Given the description of an element on the screen output the (x, y) to click on. 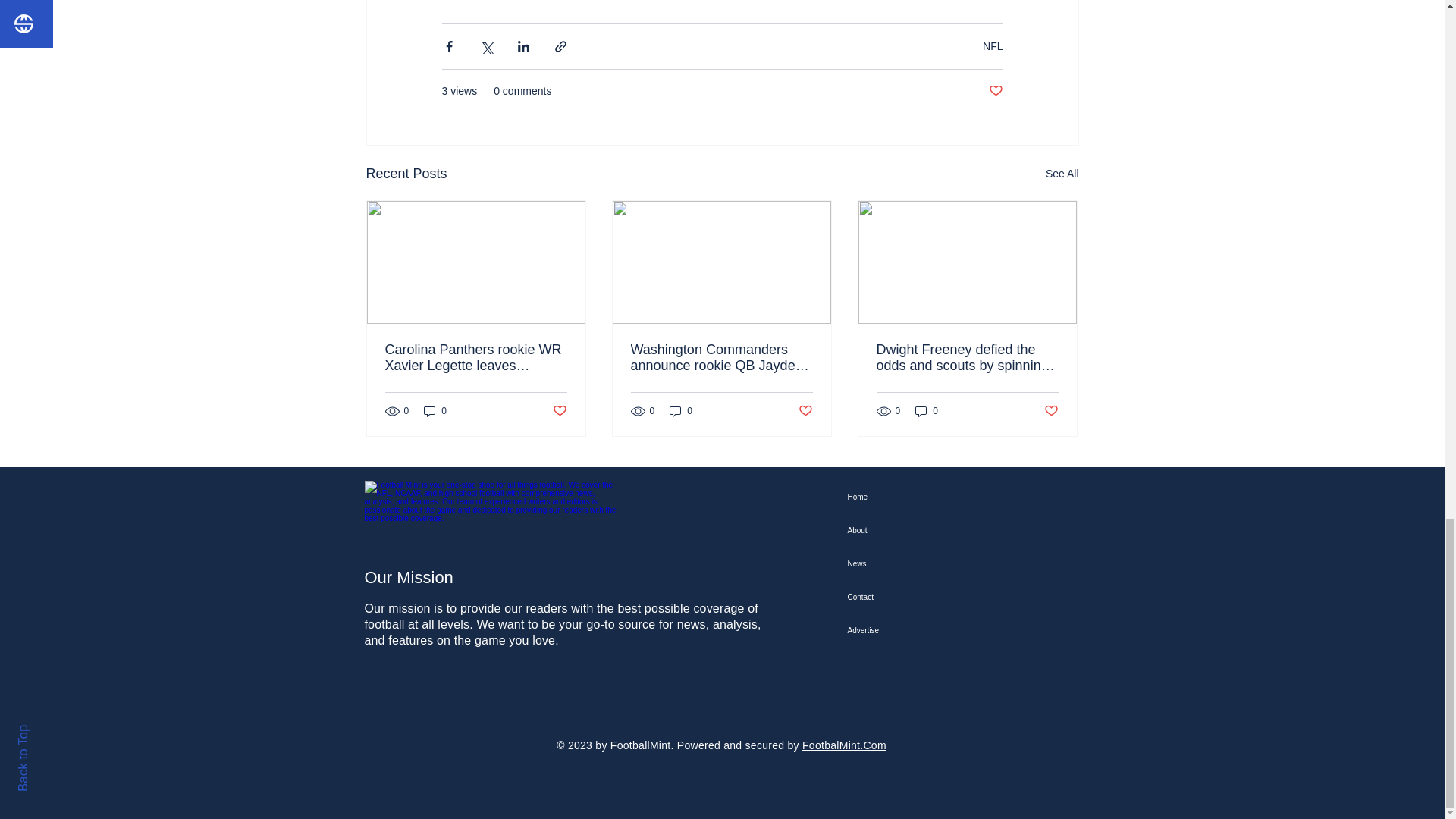
0 (926, 410)
Post not marked as liked (995, 91)
0 (681, 410)
0 (435, 410)
Post not marked as liked (1050, 411)
Post not marked as liked (558, 411)
NFL (992, 45)
Post not marked as liked (804, 411)
See All (1061, 173)
